Given the description of an element on the screen output the (x, y) to click on. 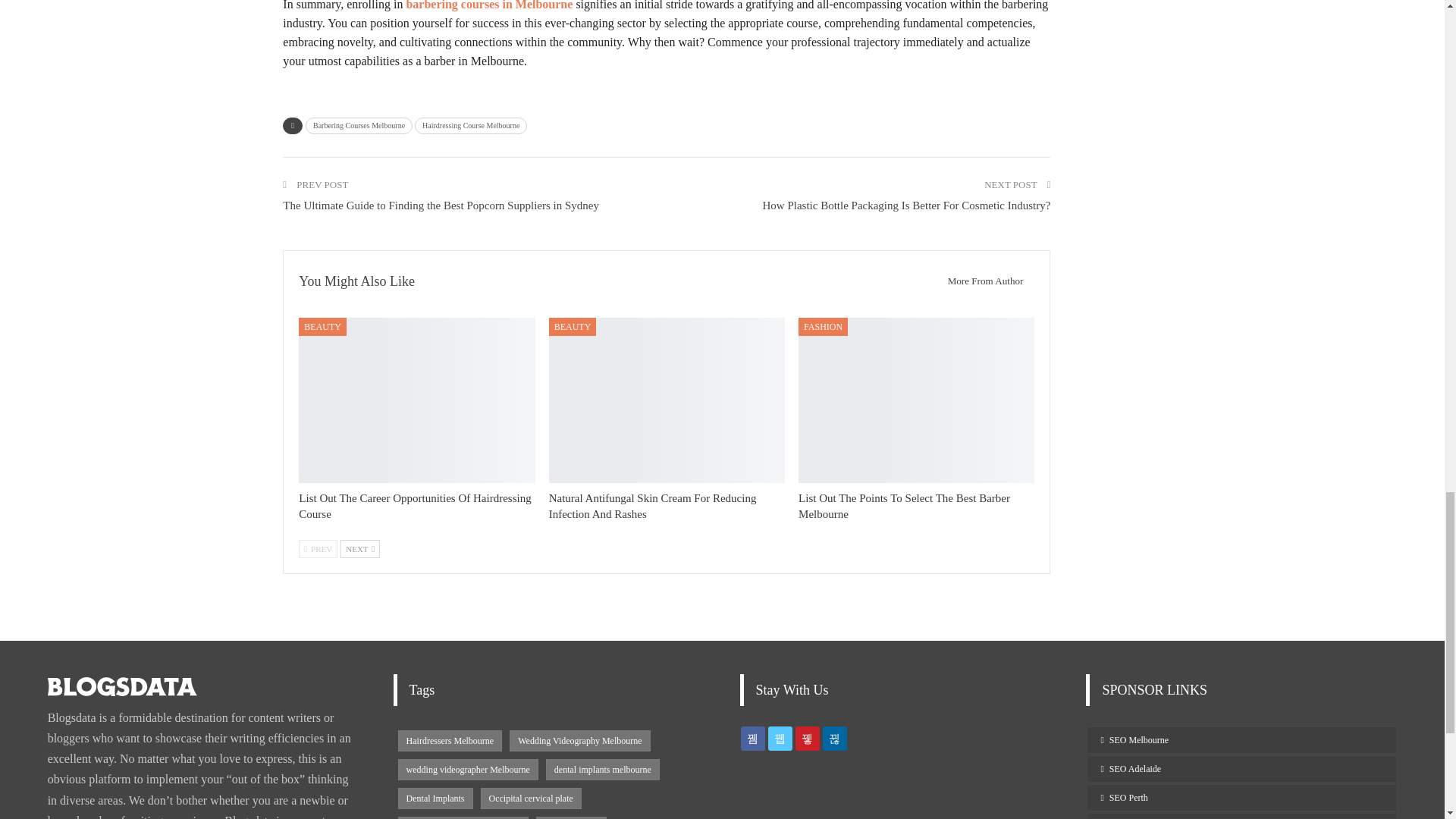
You Might Also Like (356, 281)
barbering courses in Melbourne (489, 5)
Barbering Courses Melbourne (358, 125)
BEAUTY (322, 326)
Hairdressing Course Melbourne (470, 125)
More From Author (981, 281)
